Given the description of an element on the screen output the (x, y) to click on. 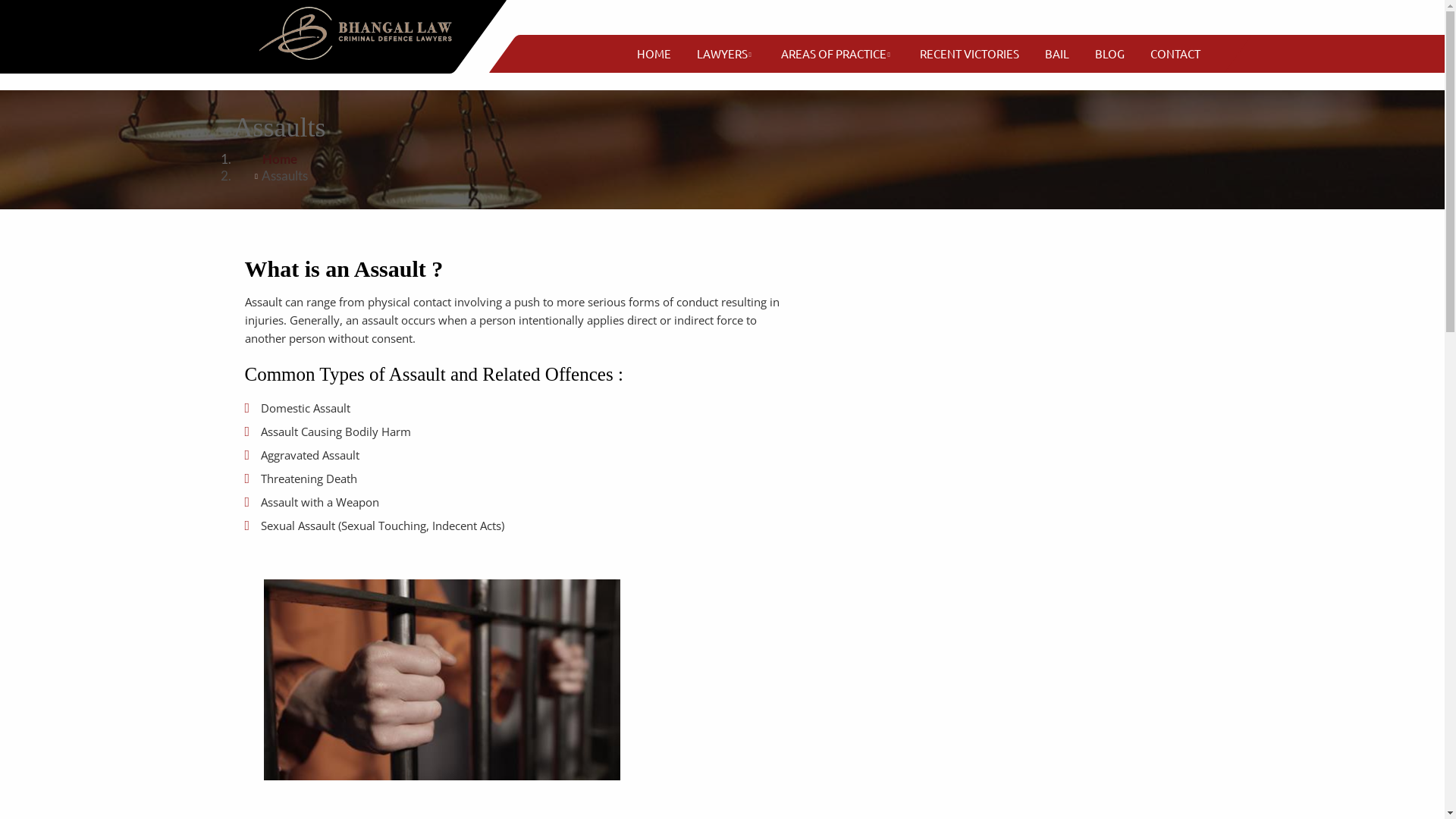
CONTACT Element type: text (1174, 53)
Avtar Bhangal Element type: hover (361, 36)
AREAS OF PRACTICE Element type: text (833, 53)
Home Element type: text (279, 158)
BLOG Element type: text (1109, 53)
BAIL Element type: text (1056, 53)
RECENT VICTORIES Element type: text (968, 53)
LAWYERS Element type: text (721, 53)
HOME Element type: text (654, 53)
